Given the description of an element on the screen output the (x, y) to click on. 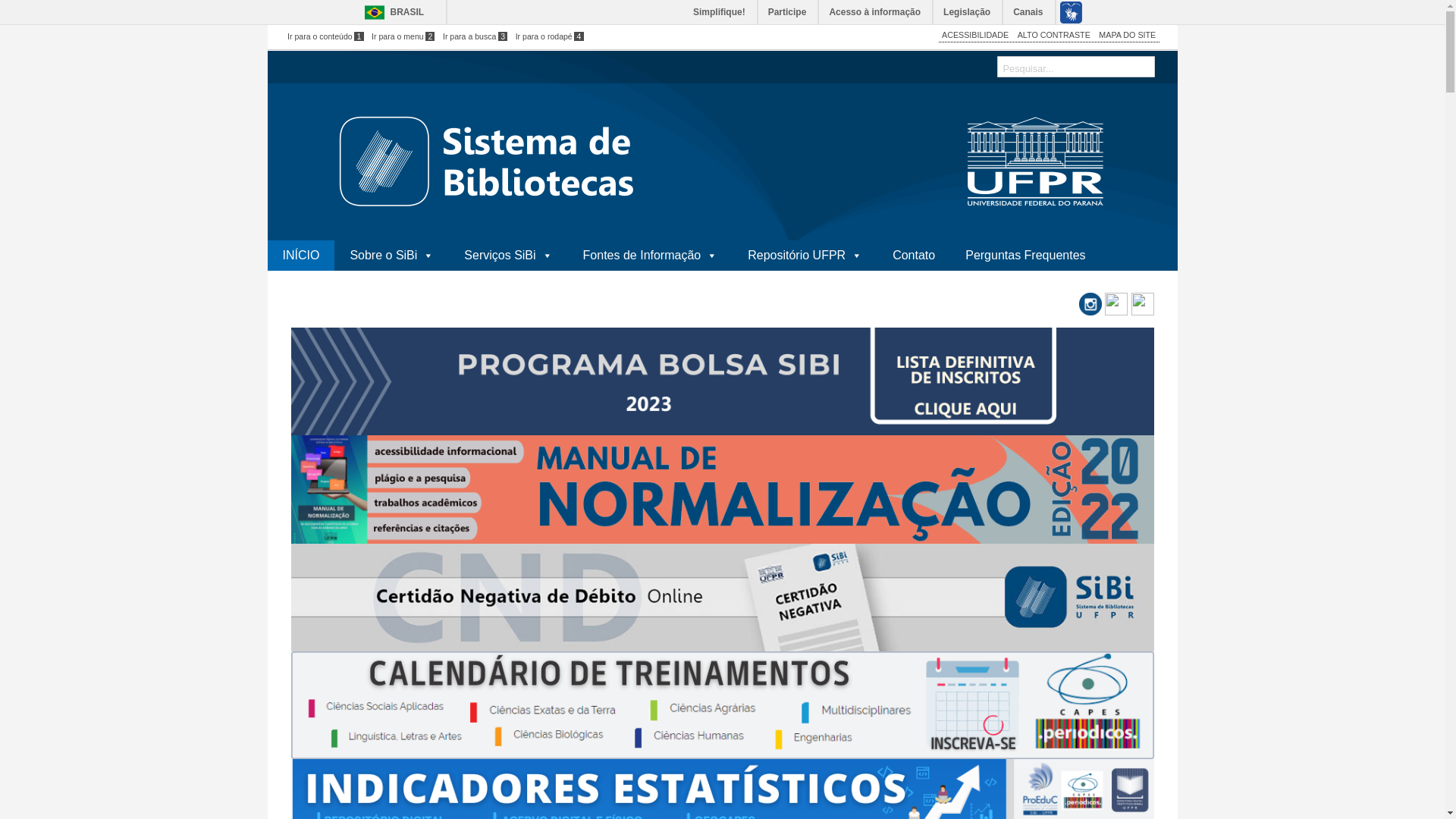
ACESSIBILIDADE Element type: text (975, 34)
banner_manual Element type: hover (722, 488)
Perguntas Frequentes Element type: text (1025, 255)
Contato Element type: text (913, 255)
banner_cnd_online Element type: hover (722, 597)
Ir para a busca3 Element type: text (475, 36)
Sobre o SiBi Element type: text (391, 255)
Ir para o menu2 Element type: text (403, 36)
Simplifique! Element type: text (719, 11)
Participe Element type: text (788, 11)
Canais Element type: text (1028, 11)
ALTO CONTRASTE Element type: text (1053, 34)
MAPA DO SITE Element type: text (1126, 34)
banner_calendario_capes Element type: hover (722, 705)
BRASIL Element type: text (389, 12)
Lucas - portal (5) Element type: hover (722, 381)
